Given the description of an element on the screen output the (x, y) to click on. 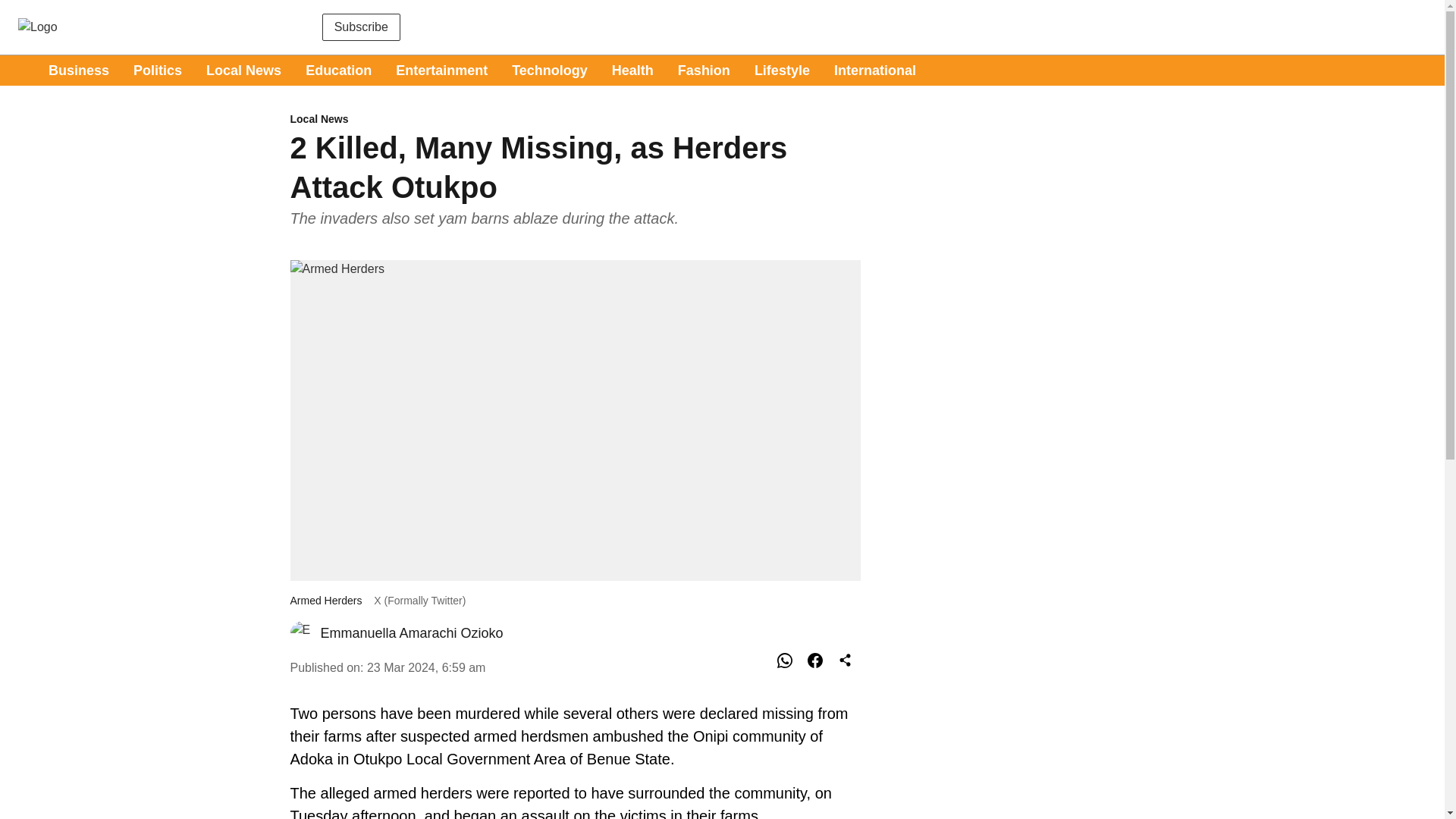
Education (338, 70)
Local News (243, 70)
Entertainment (441, 70)
Health (632, 70)
2024-03-22 22:59 (426, 667)
Emmanuella Amarachi Ozioko (411, 632)
Politics (157, 70)
International (874, 70)
Local News (574, 119)
Technology (550, 70)
Fashion (704, 70)
Lifestyle (781, 70)
Business (78, 70)
